Given the description of an element on the screen output the (x, y) to click on. 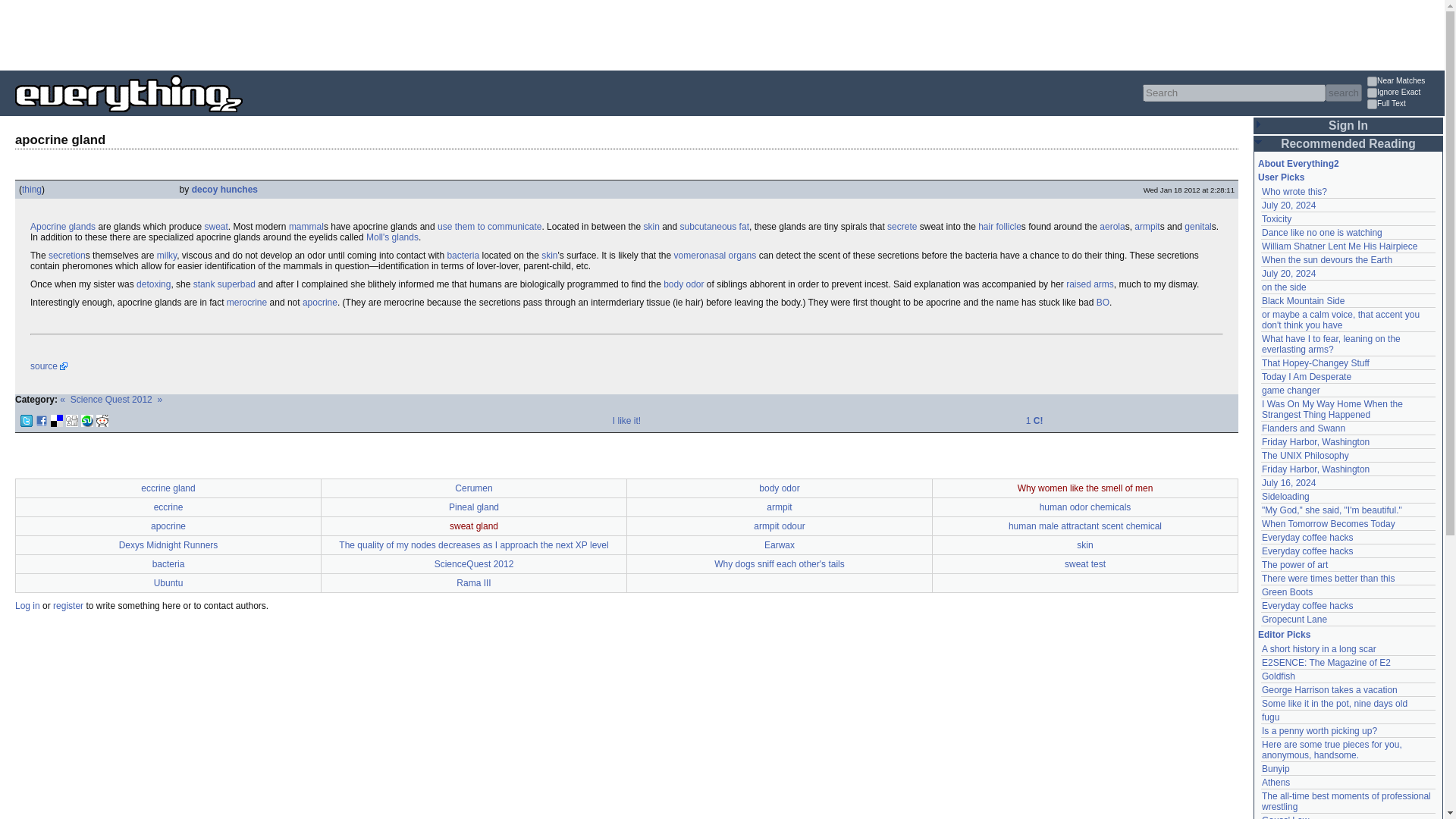
1 (1372, 103)
raised arms (1089, 284)
search (1342, 92)
body odor (683, 284)
dermis (651, 226)
hair follicle (1000, 226)
genital (1198, 226)
skin (549, 255)
excrete (901, 226)
Everything (242, 117)
armpit (1146, 226)
mammal (305, 226)
Apocrine glands (63, 226)
Science Quest 2012 (110, 398)
Moll's glands (392, 236)
